Given the description of an element on the screen output the (x, y) to click on. 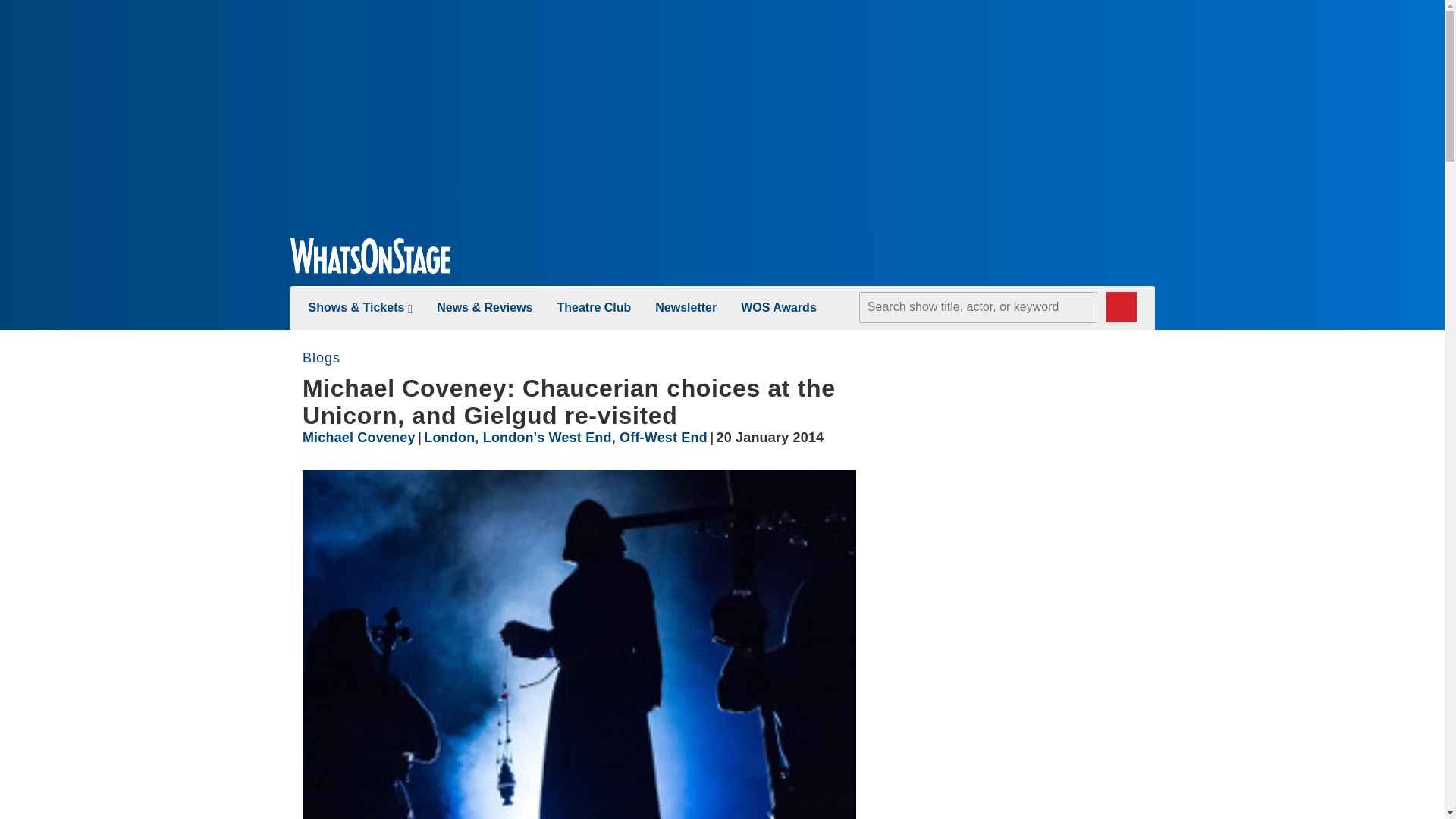
WOS Awards (778, 307)
Newsletter (685, 307)
Theatre Club (593, 307)
new-and-reviews-link (484, 307)
